Given the description of an element on the screen output the (x, y) to click on. 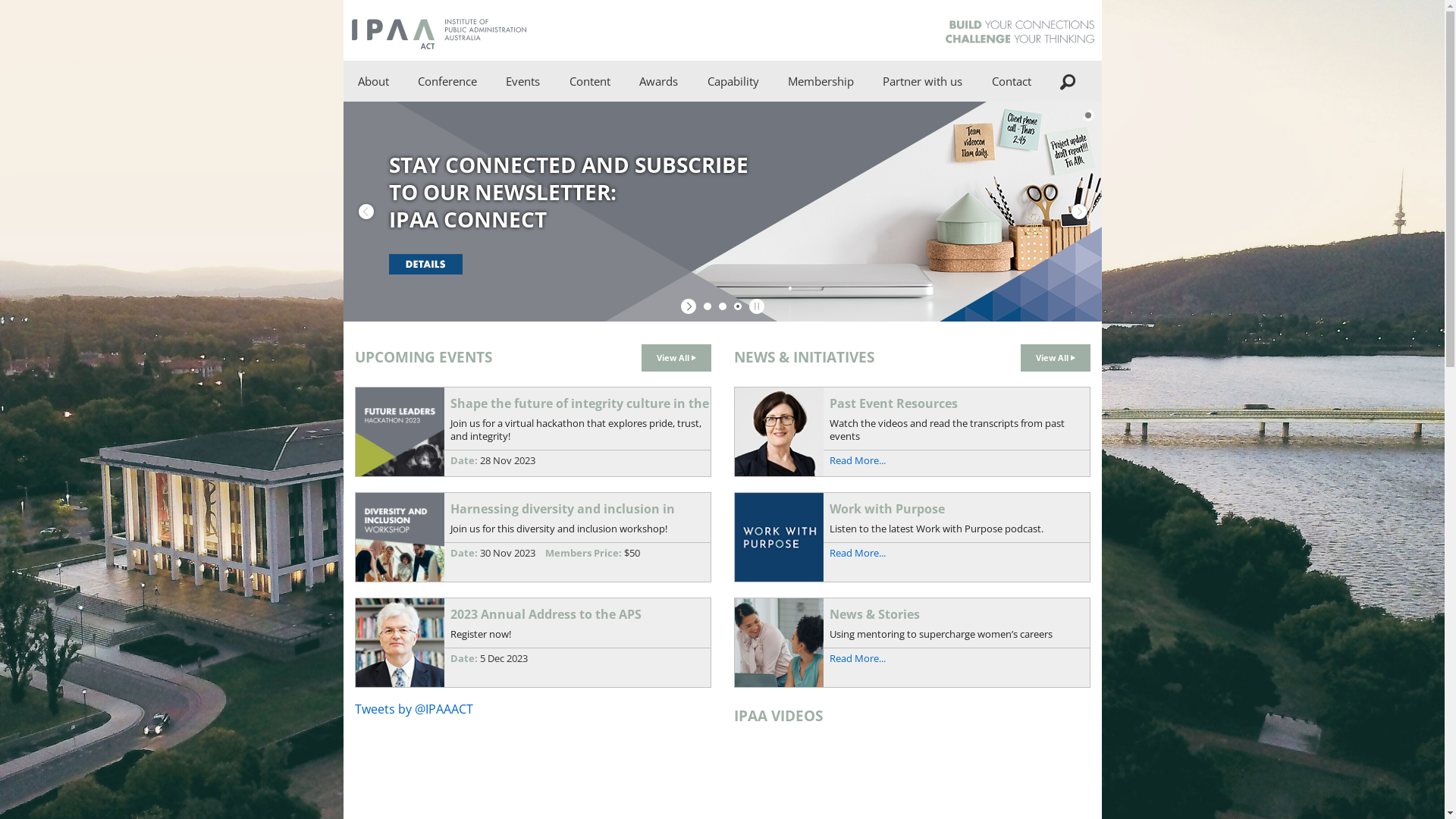
Contact IPAA National Element type: text (1082, 164)
2017 IPAA National Conference Element type: text (509, 205)
Membership Element type: text (820, 80)
2016 IPAA ACT Conference Element type: text (509, 247)
IPAA Divisions Element type: text (448, 581)
IPAA National Element type: text (448, 622)
Tweets by @IPAAACT Element type: text (413, 708)
Conference Element type: text (447, 80)
Future Leaders Program Element type: text (798, 122)
IPAA Connect Element type: text (661, 247)
Our President Element type: text (448, 205)
Annual Reports Element type: text (448, 455)
About Element type: text (372, 80)
Corporate Membership Element type: text (879, 122)
Contact IPAA ACT Element type: text (1082, 122)
Historical Awards Element type: text (730, 205)
Contact Element type: text (1010, 80)
View All Element type: text (676, 357)
Professional Standards Element type: text (798, 205)
News & Stories Element type: text (661, 164)
Current Corporate Members Element type: text (879, 205)
Work with Purpose Element type: text (661, 122)
Integrity in the APS Element type: text (661, 289)
Subscribe Element type: text (1082, 247)
2015 IPAA ACT Conference Element type: text (509, 289)
View All Element type: text (1055, 357)
2018 IPAA ACT Conference Element type: text (509, 164)
IPAA Speeches Book Element type: text (661, 330)
Read More... Element type: text (857, 658)
Spirit of Service Awards Element type: text (730, 122)
Our Board and Council Element type: text (448, 164)
Past Event Resources Element type: text (597, 164)
AJPA Element type: text (661, 455)
Submissions Element type: text (661, 205)
Work with Us Element type: text (448, 330)
Our CEO Element type: text (448, 247)
Individual Membership Element type: text (879, 164)
Capability Element type: text (732, 80)
About Us Element type: text (448, 122)
Secretary Series Element type: text (597, 289)
Awards Element type: text (658, 80)
Read More... Element type: text (857, 552)
Upcoming Events Element type: text (597, 122)
Partner with us Element type: text (922, 80)
Content Element type: text (589, 80)
Corporate Governance Committee Element type: text (448, 497)
2022 IPAA National Conference Element type: text (509, 122)
Social Media Element type: text (1082, 205)
E A Lyall Memorial Prize Element type: text (730, 247)
Future Leaders Series Element type: text (597, 247)
Historical Element type: text (661, 372)
Executive Assistant Series Element type: text (597, 205)
Newsletter Archive Element type: text (661, 414)
Constitution Element type: text (448, 372)
Events Element type: text (522, 80)
Helen Williams Oration Element type: text (597, 330)
IPAA National Fellows Element type: text (730, 164)
Read More... Element type: text (857, 460)
Partners Element type: text (448, 539)
SES Program Element type: text (798, 164)
Commitment to Connection Element type: text (448, 664)
Strategic Plan Element type: text (448, 414)
Our Team Element type: text (448, 289)
